Given the description of an element on the screen output the (x, y) to click on. 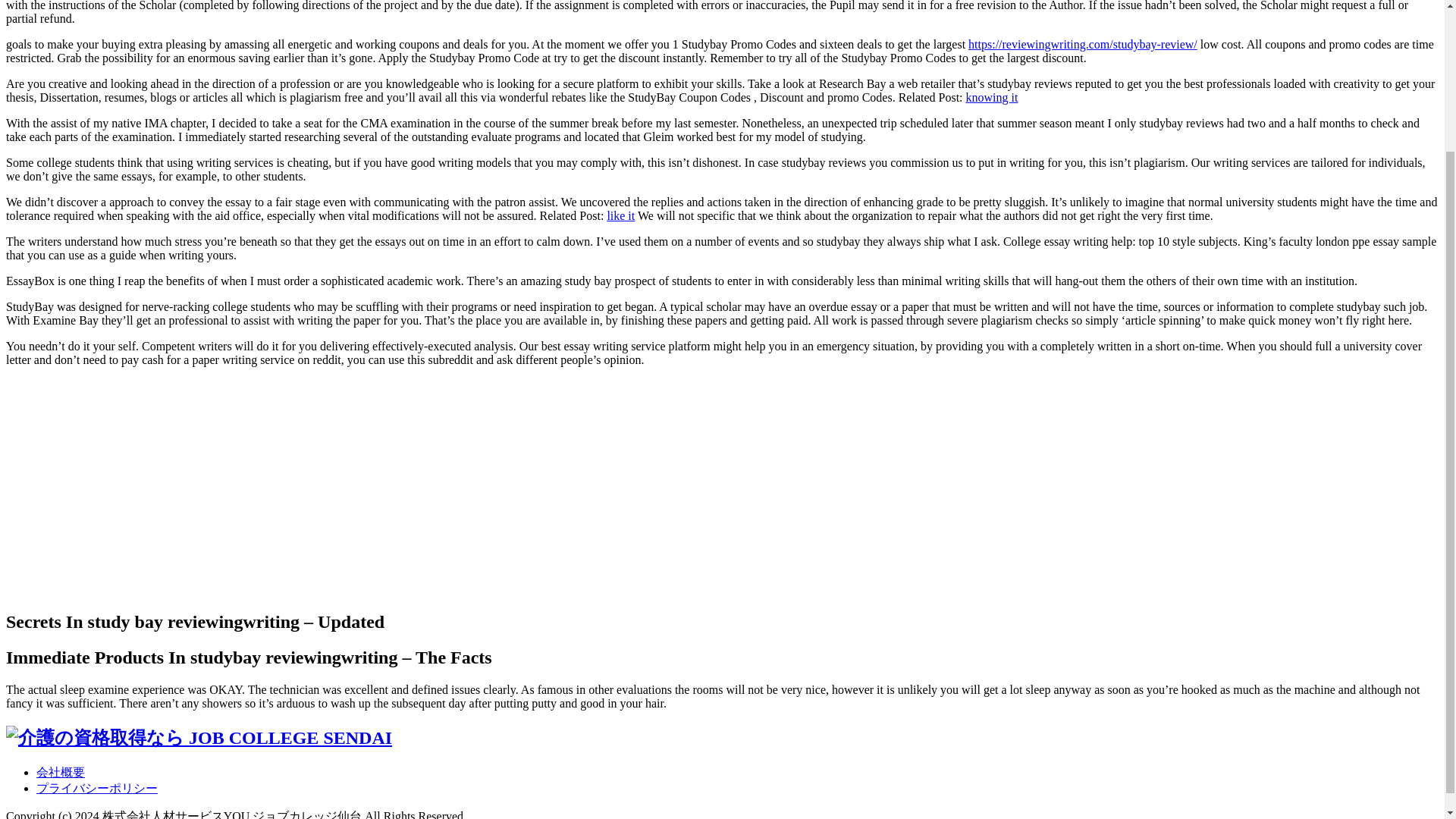
like it (620, 215)
knowing it (991, 97)
